Given the description of an element on the screen output the (x, y) to click on. 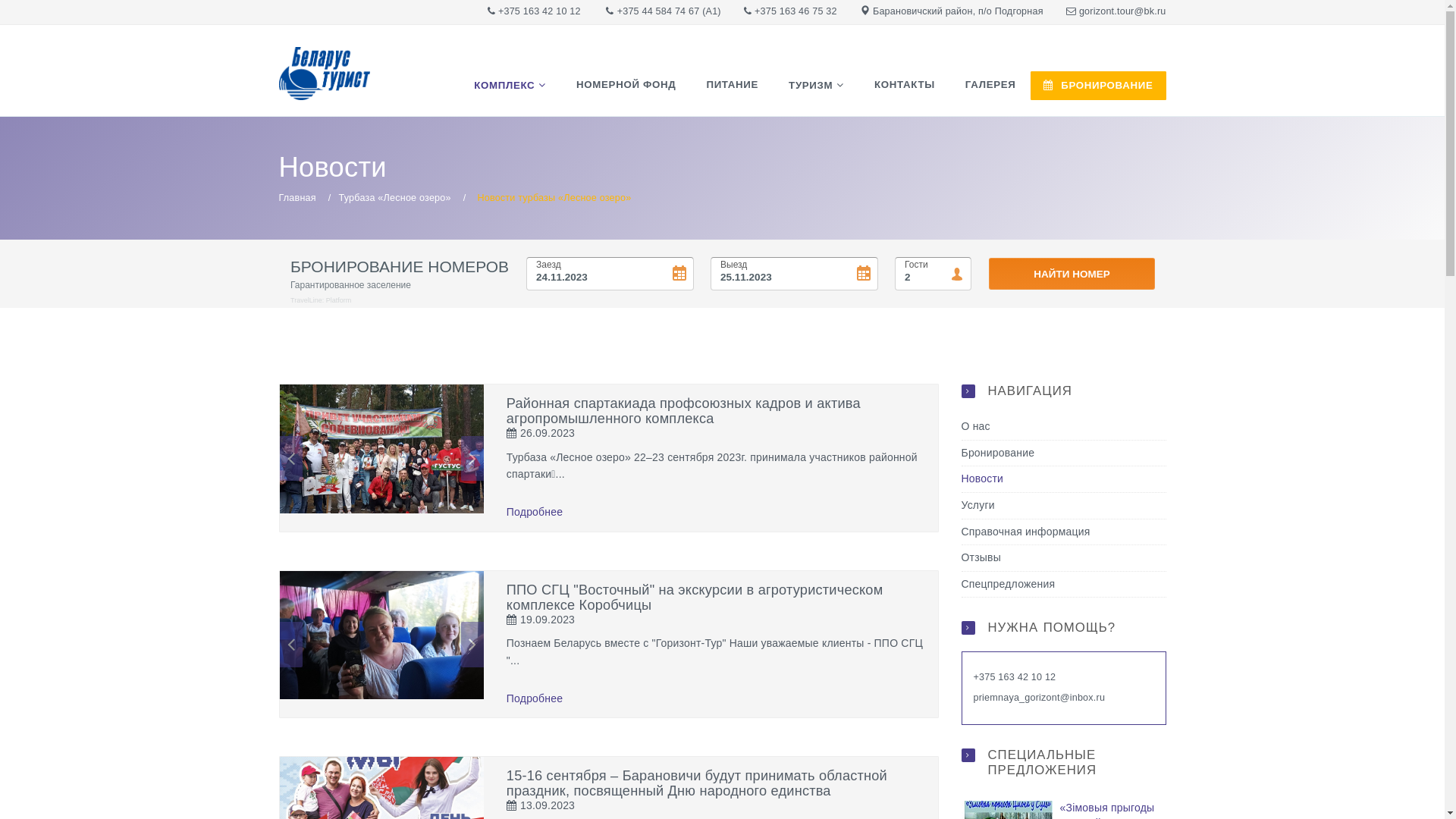
gorizont.tour@bk.ru Element type: text (1122, 11)
+375 163 42 10 12 Element type: text (539, 11)
priemnaya_gorizont@inbox.ru Element type: text (1039, 697)
+375 44 584 74 67 Element type: text (658, 11)
+375 163 42 10 12 Element type: text (1014, 676)
